Given the description of an element on the screen output the (x, y) to click on. 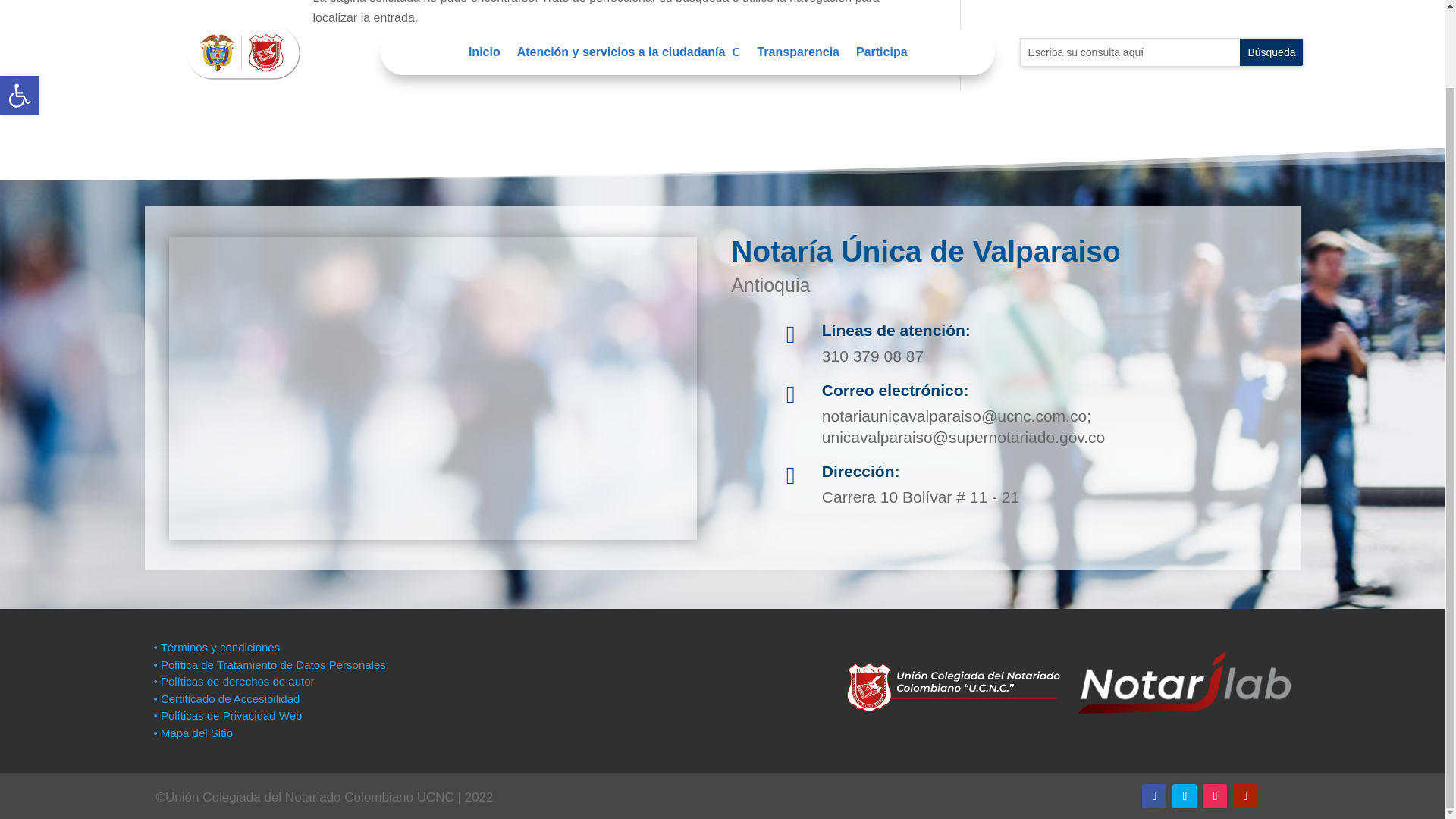
Certificado de Accesibilidad (225, 698)
Seguir en Instagram (1214, 795)
Seguir en Twitter (19, 13)
Paginas-web-notarias (1184, 795)
Seguir en Facebook (19, 10)
Herramientas de accesibilidad (1153, 795)
Seguir en Youtube (19, 13)
Mapa del Sitio (1245, 795)
